Given the description of an element on the screen output the (x, y) to click on. 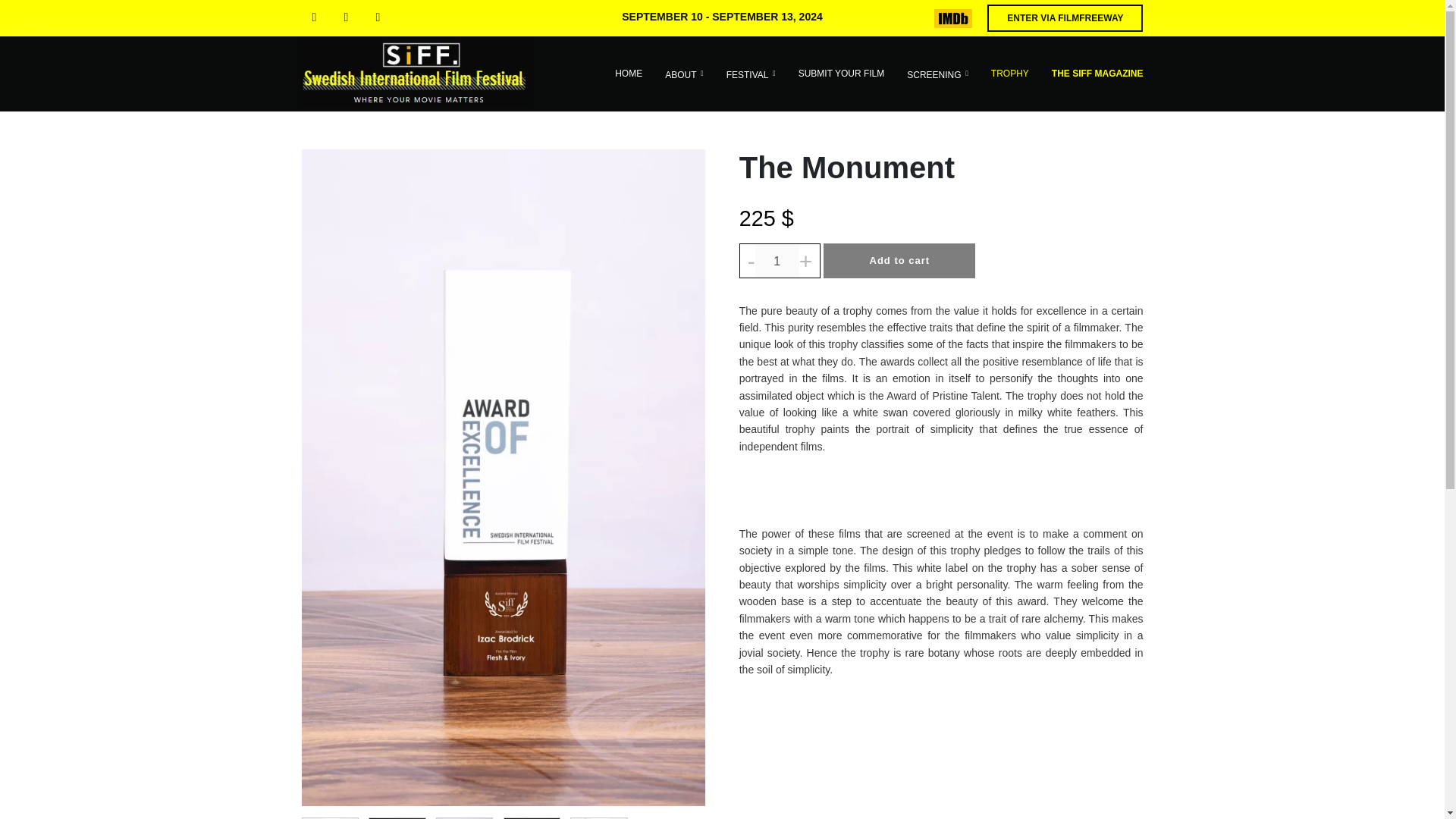
Qty (777, 261)
1 (777, 261)
